Given the description of an element on the screen output the (x, y) to click on. 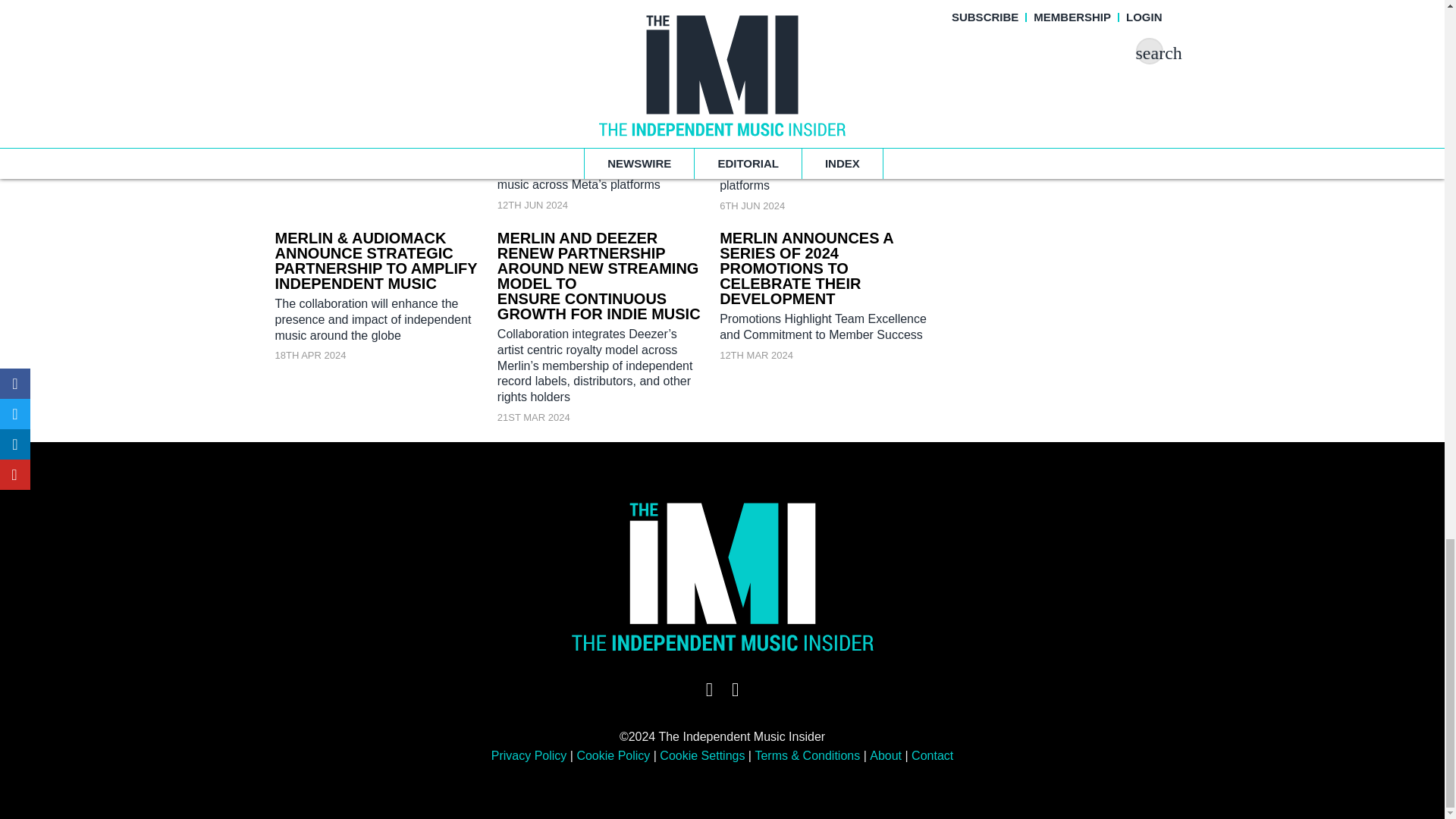
MERLIN ANNOUNCES NEIL MILLER AS GENERAL COUNSEL (373, 42)
Privacy Policy (529, 755)
Cookie Policy (612, 755)
Cookie Settings (701, 755)
